Given the description of an element on the screen output the (x, y) to click on. 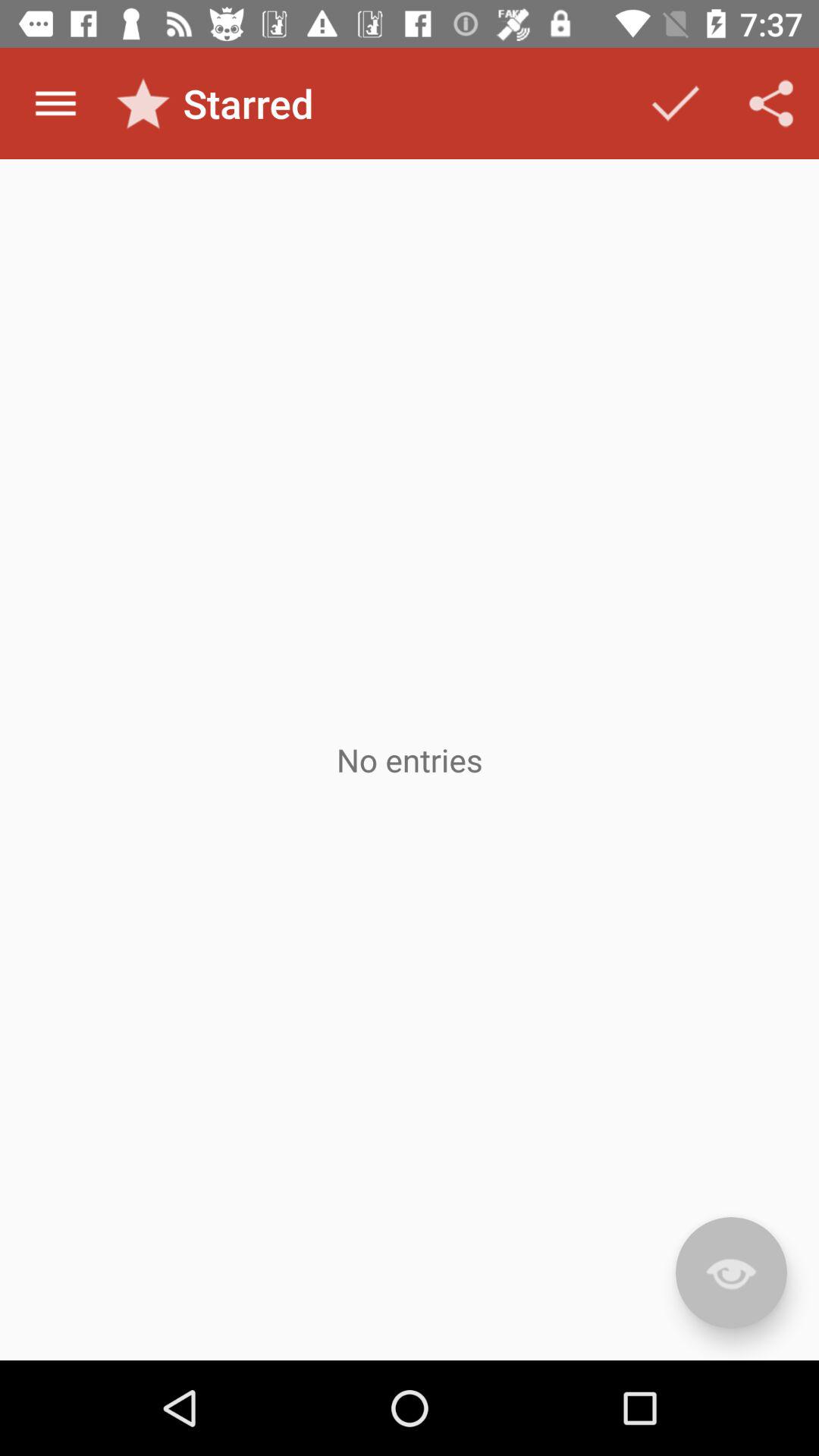
press no entries item (409, 759)
